Given the description of an element on the screen output the (x, y) to click on. 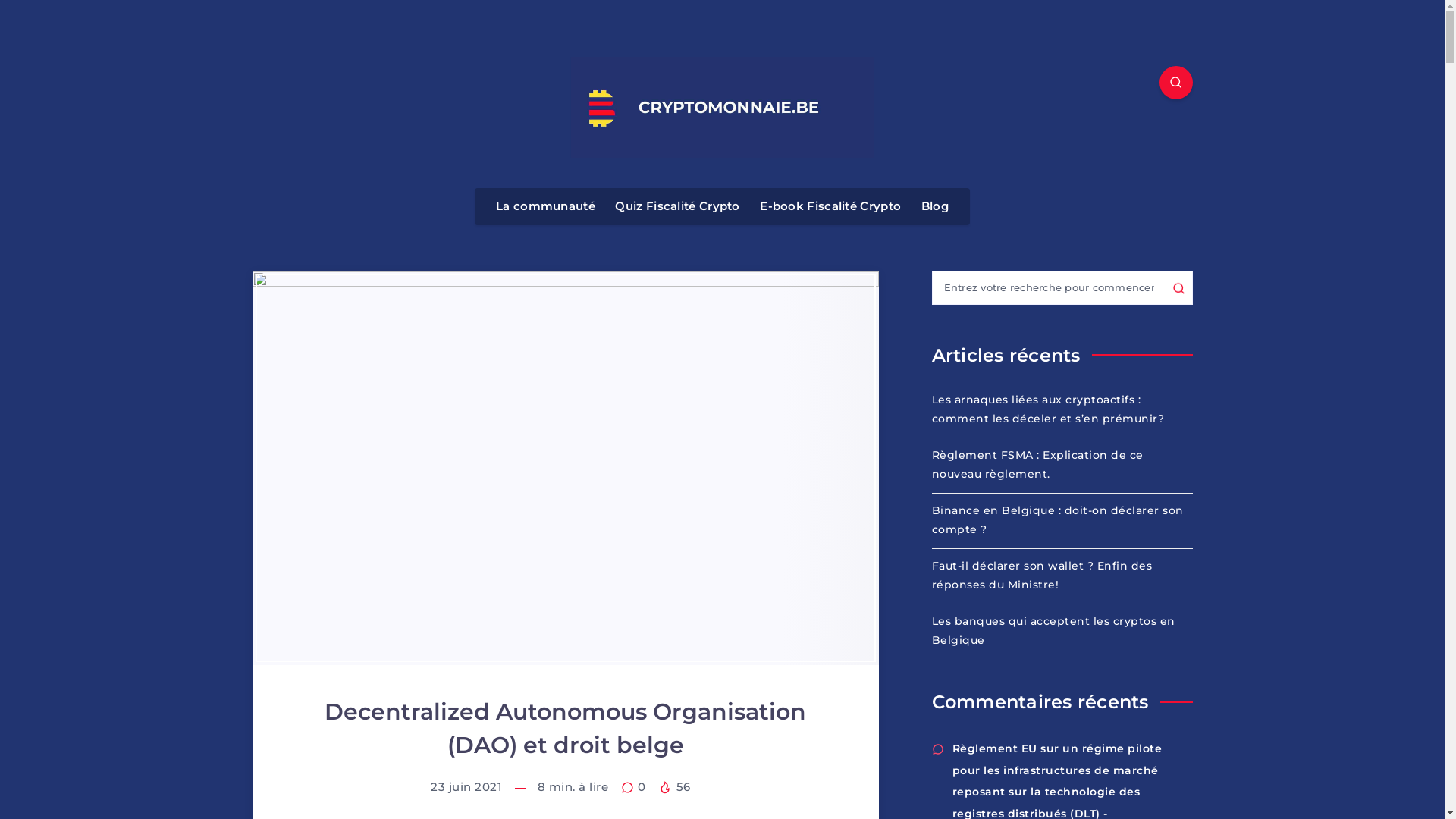
0 Element type: text (635, 786)
Les banques qui acceptent les cryptos en Belgique Element type: text (1061, 630)
Blog Element type: text (934, 206)
